Given the description of an element on the screen output the (x, y) to click on. 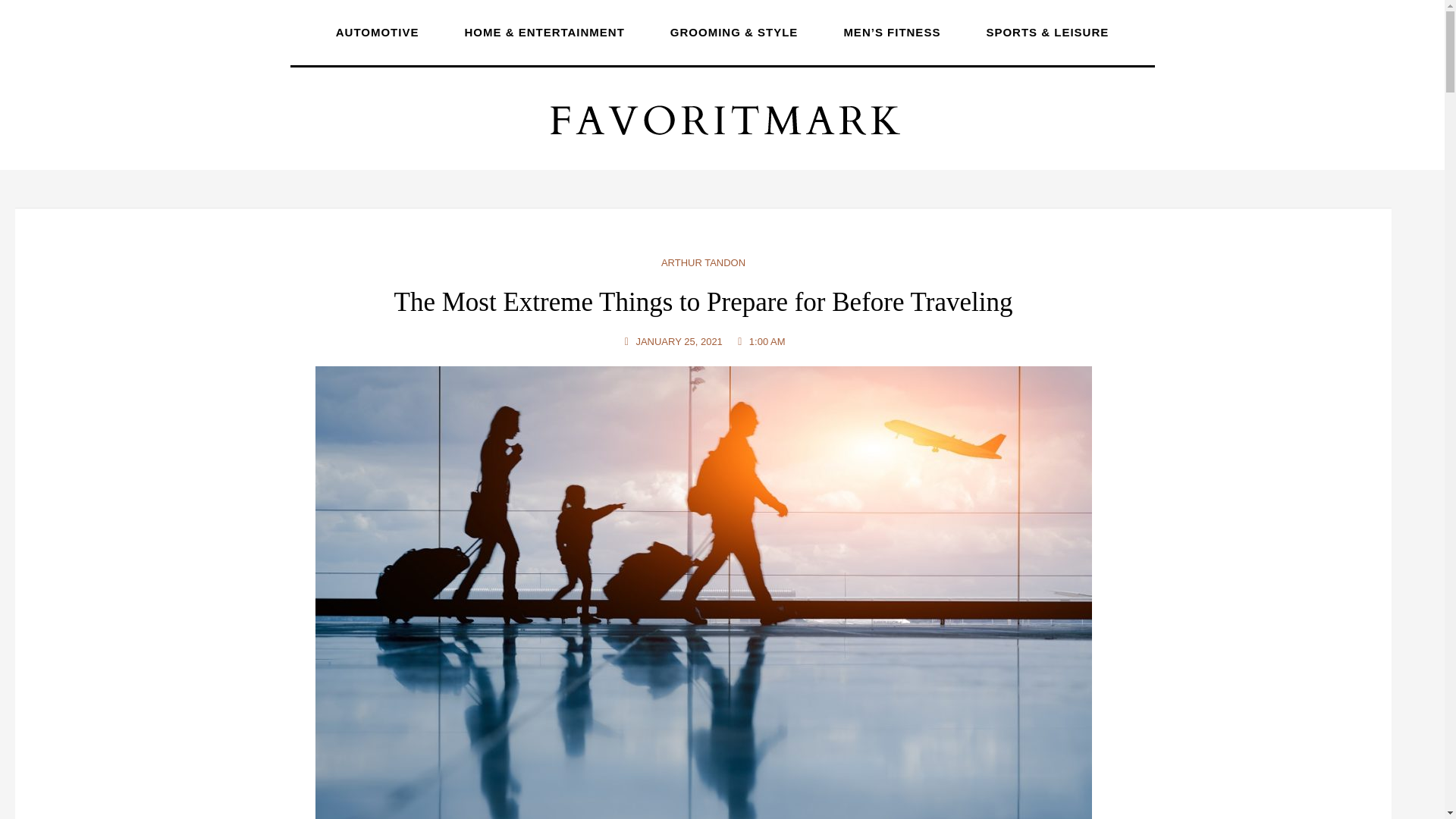
JANUARY 25, 2021 (671, 341)
AUTOMOTIVE (377, 30)
